Given the description of an element on the screen output the (x, y) to click on. 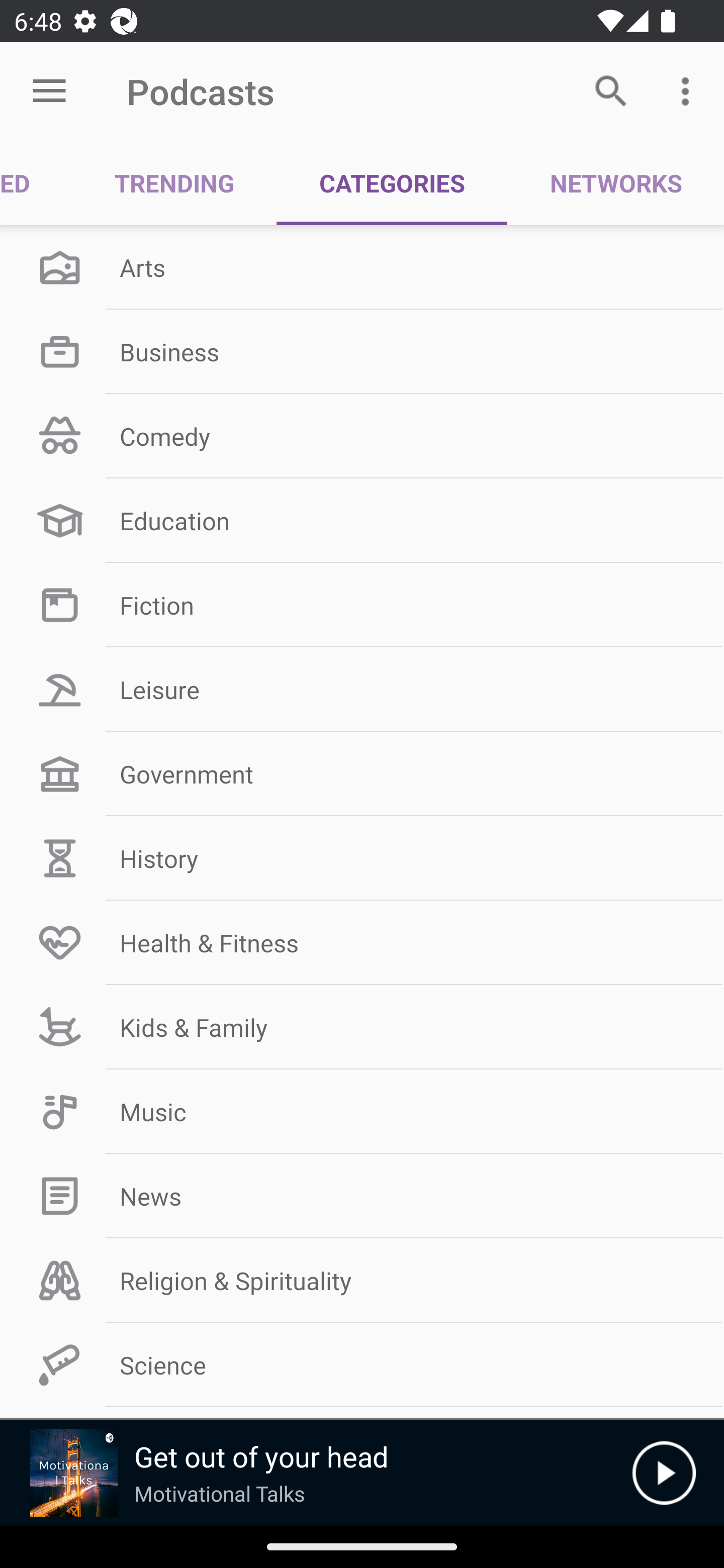
Open menu (49, 91)
Search (611, 90)
More options (688, 90)
TRENDING (174, 183)
CATEGORIES (391, 183)
NETWORKS (615, 183)
Arts (362, 266)
Business (362, 350)
Comedy (362, 435)
Education (362, 520)
Fiction (362, 604)
Leisure (362, 689)
Government (362, 774)
History (362, 858)
Health & Fitness (362, 942)
Kids & Family (362, 1026)
Music (362, 1111)
News (362, 1196)
Religion & Spirituality (362, 1280)
Science (362, 1364)
Picture Get out of your head Motivational Talks (316, 1472)
Play (663, 1472)
